Given the description of an element on the screen output the (x, y) to click on. 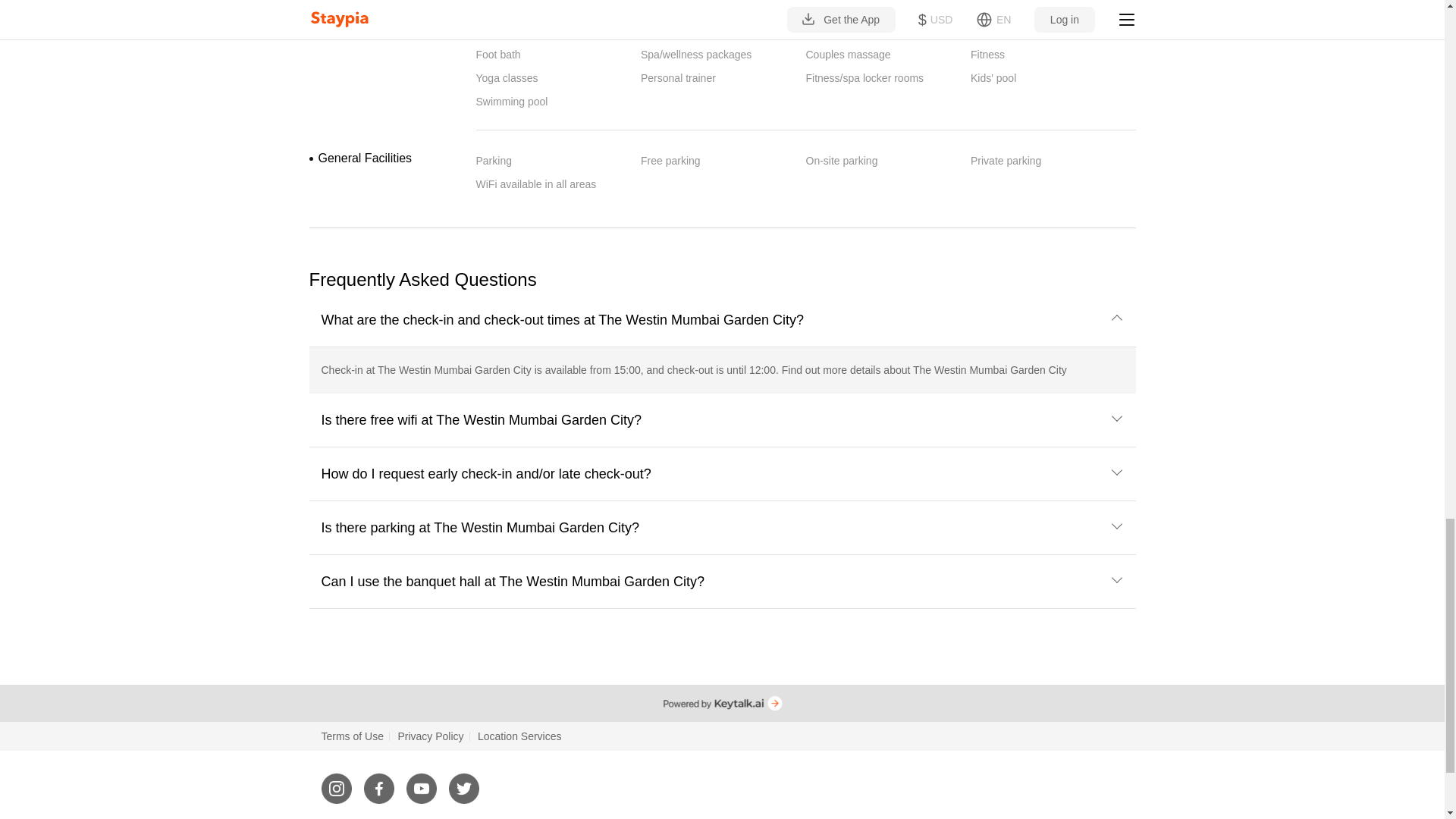
Find out more details about The Westin Mumbai Garden City (924, 369)
facebook (379, 781)
Can I use the banquet hall at The Westin Mumbai Garden City? (722, 581)
Privacy Policy (430, 736)
Is there parking at The Westin Mumbai Garden City? (722, 527)
youtube (421, 781)
Terms of Use (352, 736)
Is there free wifi at The Westin Mumbai Garden City? (722, 419)
Location Services (519, 736)
